Given the description of an element on the screen output the (x, y) to click on. 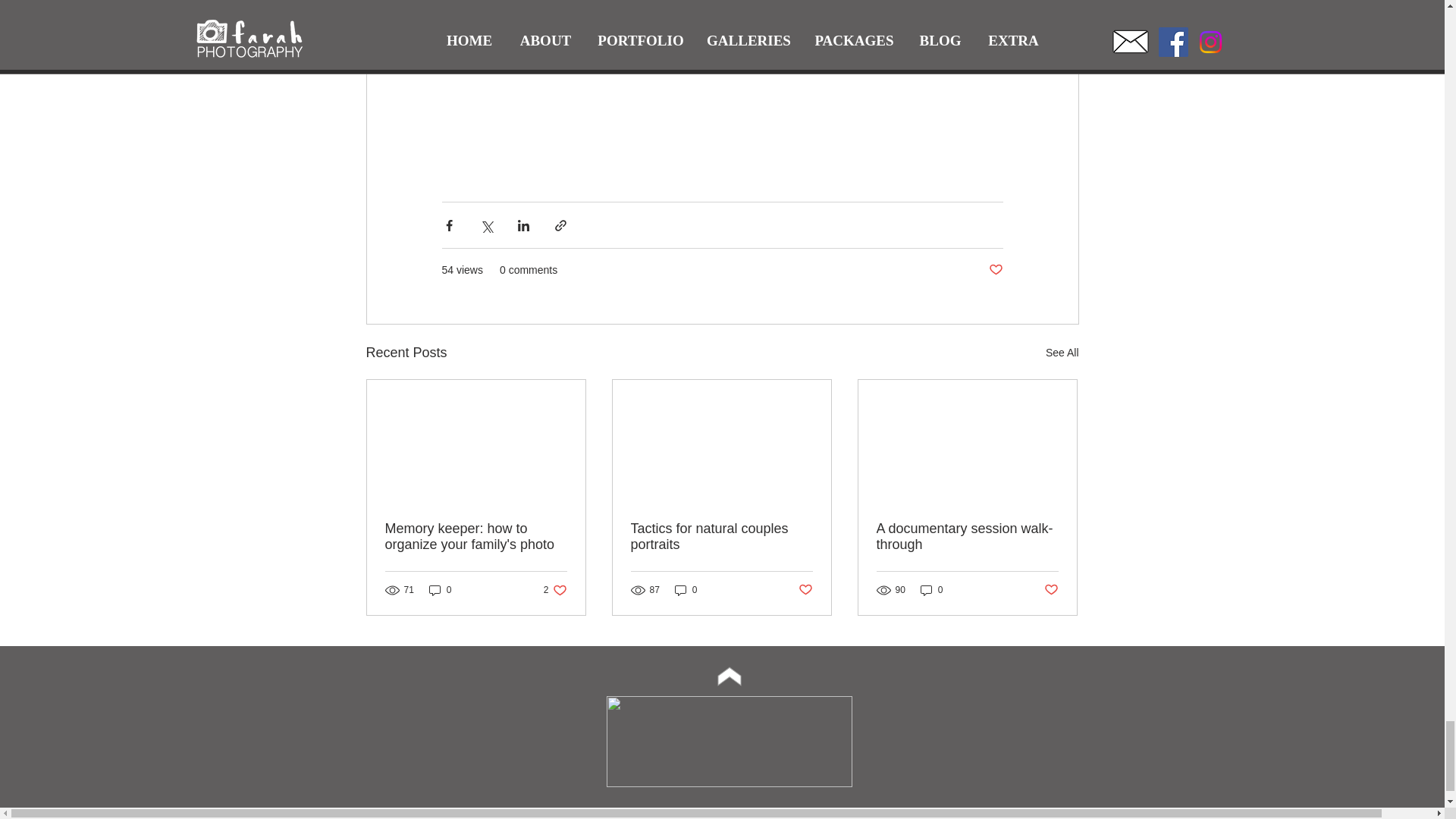
0 (685, 590)
See All (1061, 352)
0 (931, 590)
Post not marked as liked (804, 590)
Post not marked as liked (995, 270)
0 (440, 590)
A documentary session walk-through (967, 536)
Post not marked as liked (1050, 590)
Memory keeper: how to organize your family's photo (555, 590)
Tactics for natural couples portraits (476, 536)
